Given the description of an element on the screen output the (x, y) to click on. 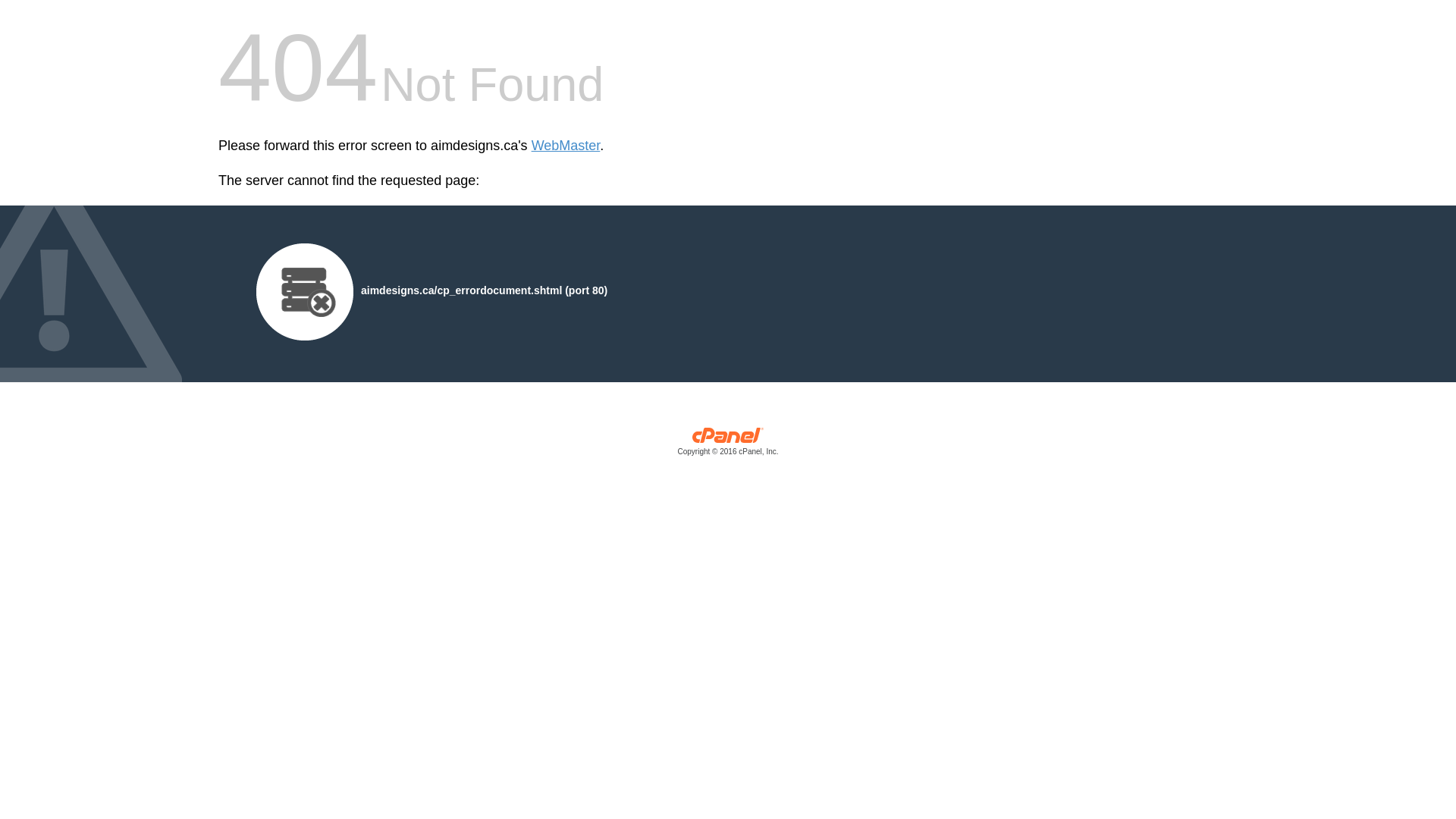
WebMaster Element type: text (565, 145)
